Given the description of an element on the screen output the (x, y) to click on. 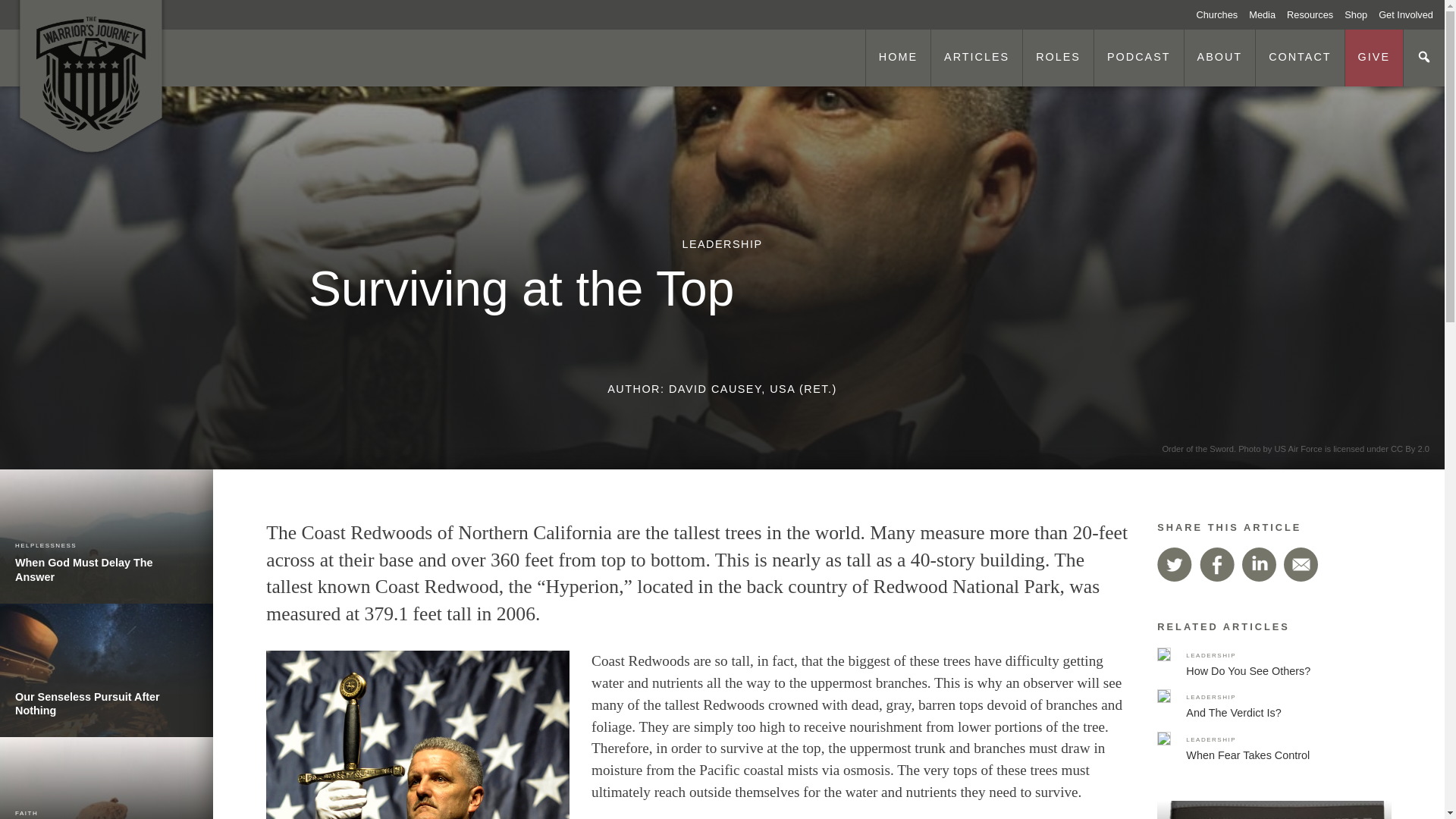
CONTACT (1299, 57)
Churches (1222, 14)
ABOUT (1219, 57)
GIVE (1373, 57)
ROLES (1057, 57)
PODCAST (1138, 57)
Shop (106, 778)
  Our Senseless Pursuit After Nothing (1360, 14)
